Given the description of an element on the screen output the (x, y) to click on. 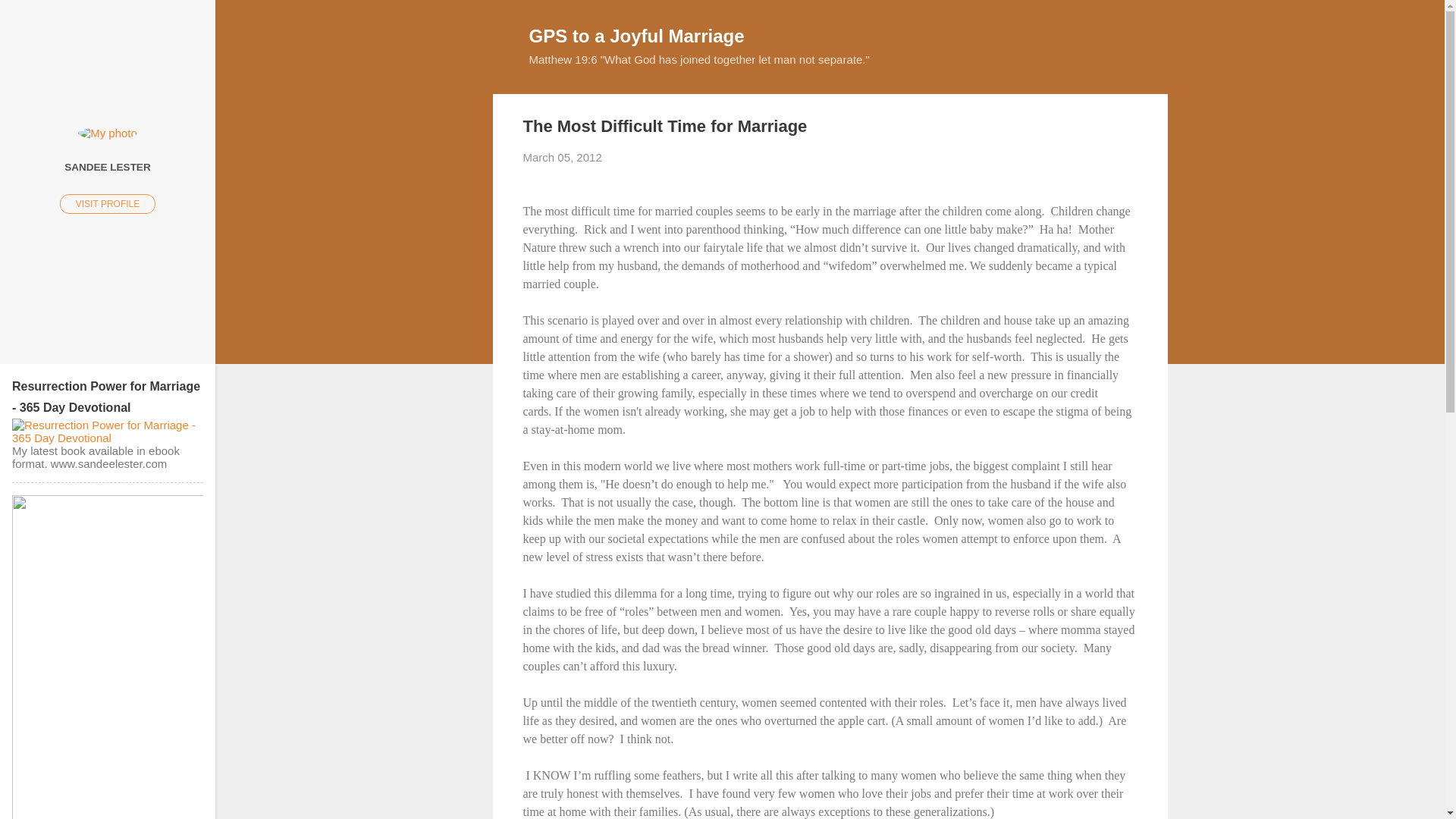
March 05, 2012 (562, 156)
GPS to a Joyful Marriage (636, 35)
SANDEE LESTER (107, 166)
Search (29, 18)
VISIT PROFILE (107, 203)
permanent link (562, 156)
